Given the description of an element on the screen output the (x, y) to click on. 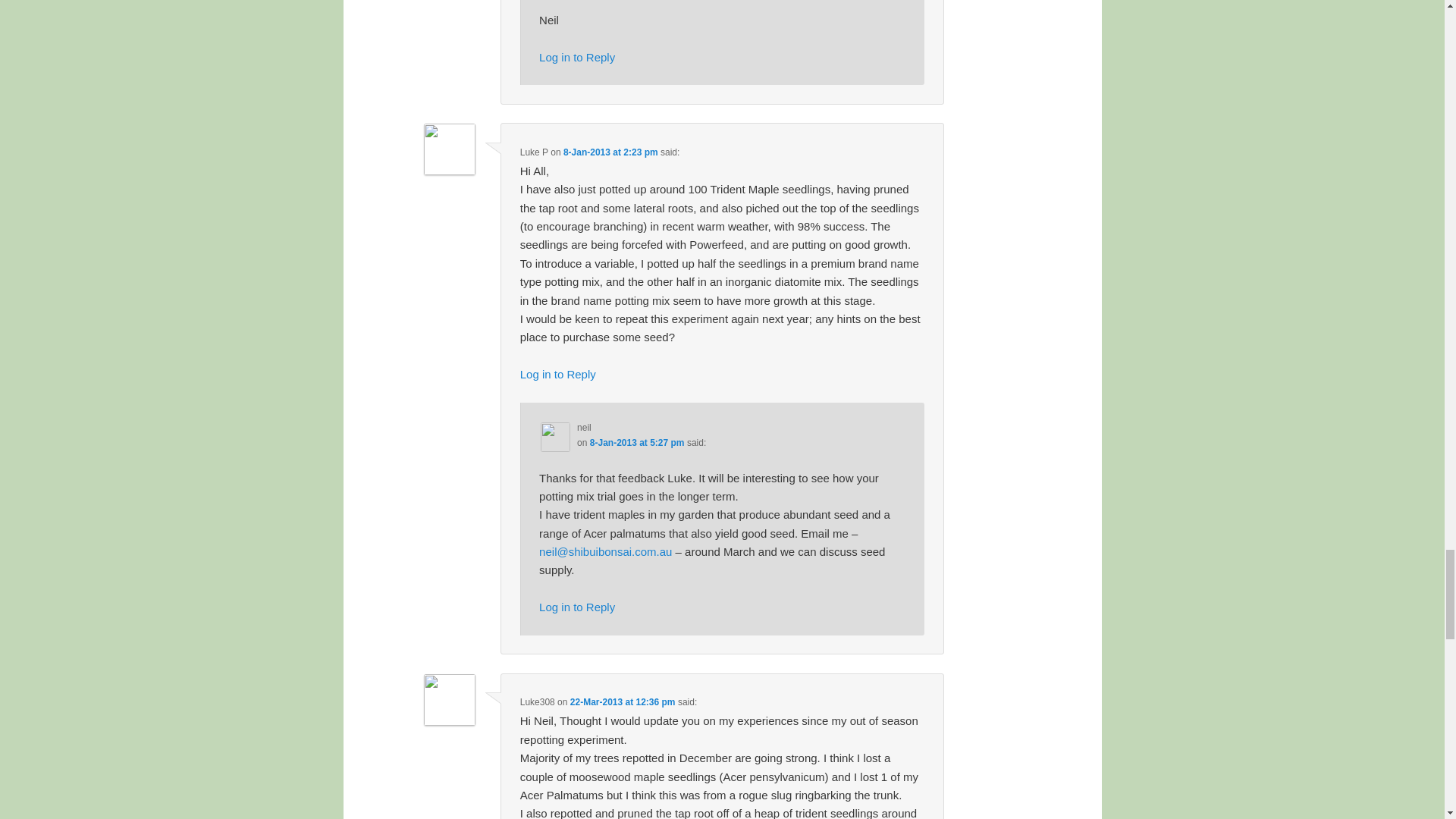
Log in to Reply (557, 373)
Log in to Reply (576, 56)
8-Jan-2013 at 2:23 pm (610, 152)
8-Jan-2013 at 5:27 pm (636, 442)
